Given the description of an element on the screen output the (x, y) to click on. 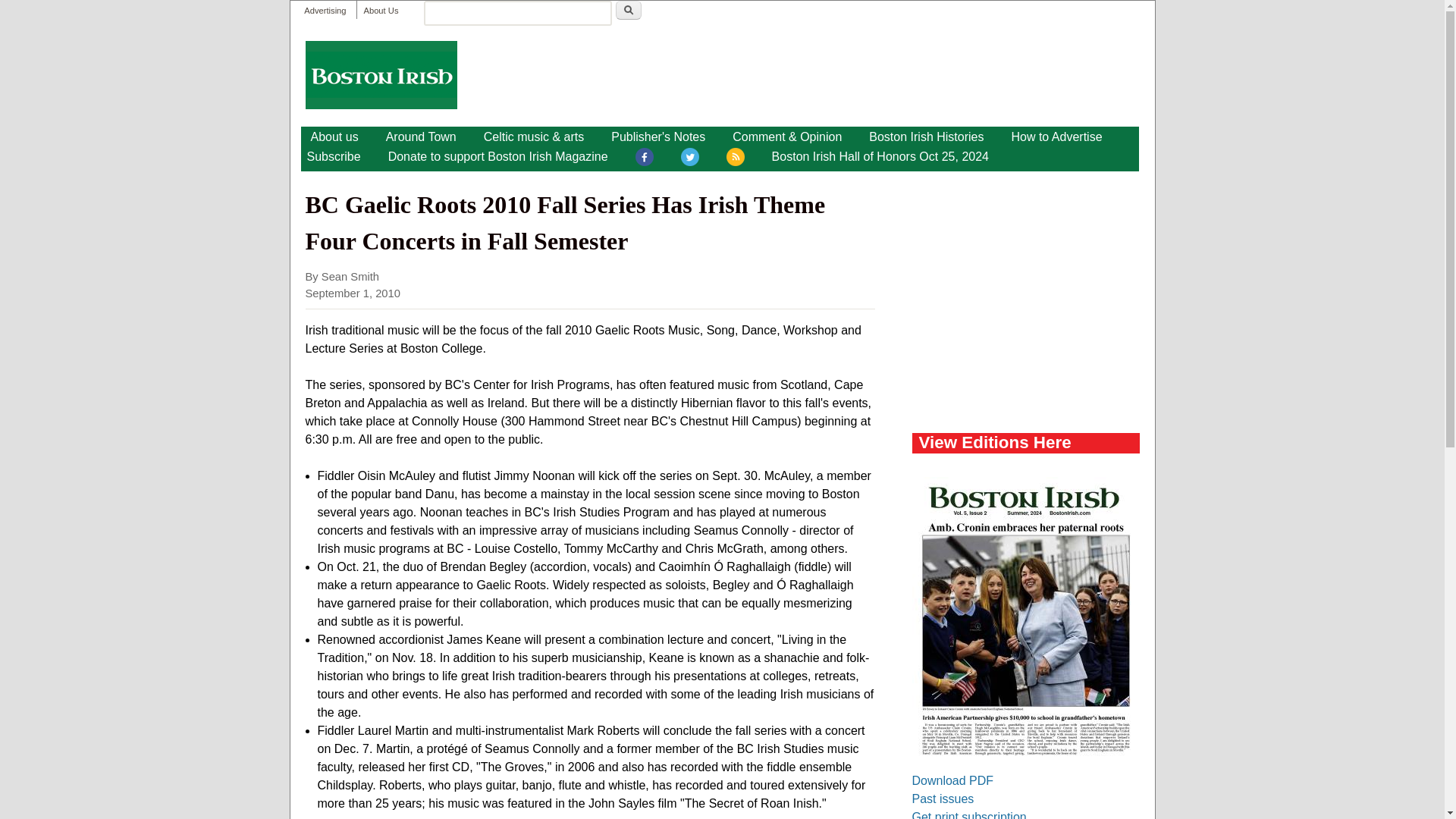
Boston Irish Histories (926, 136)
Boston Irish Hall of Honors Oct 25, 2024 (879, 157)
Search (628, 9)
Past issues (942, 798)
By BI Magazine staff (421, 136)
How to Advertise (1056, 136)
Around Town (421, 136)
Enter the terms you wish to search for. (517, 12)
Boston Irish Reporter RSS feed (735, 159)
About us (334, 136)
How to advertise with Boston Irish (1056, 136)
Advertising (324, 10)
Donate to support Boston Irish Magazine (497, 157)
Boston Irish Reporter on Twitter (689, 159)
